Given the description of an element on the screen output the (x, y) to click on. 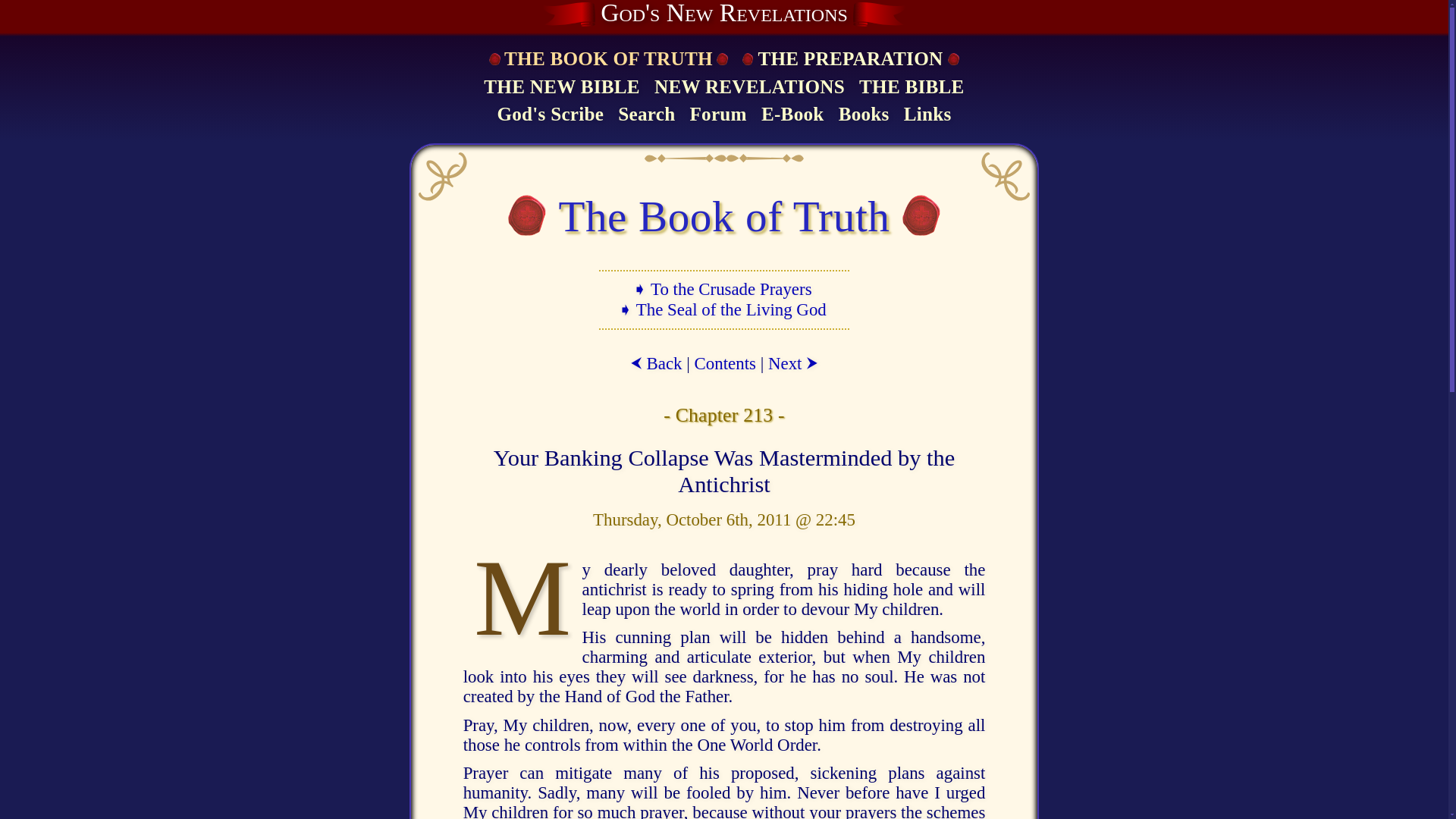
THE BOOK OF TRUTH (607, 59)
Forum (717, 114)
THE NEW BIBLE (561, 87)
Contents (724, 363)
God's Scribe (550, 114)
Search (646, 114)
Books (863, 114)
NEW REVELATIONS (749, 87)
Links (927, 114)
E-Book (792, 114)
God's New Revelations (723, 14)
THE BIBLE (912, 87)
